Given the description of an element on the screen output the (x, y) to click on. 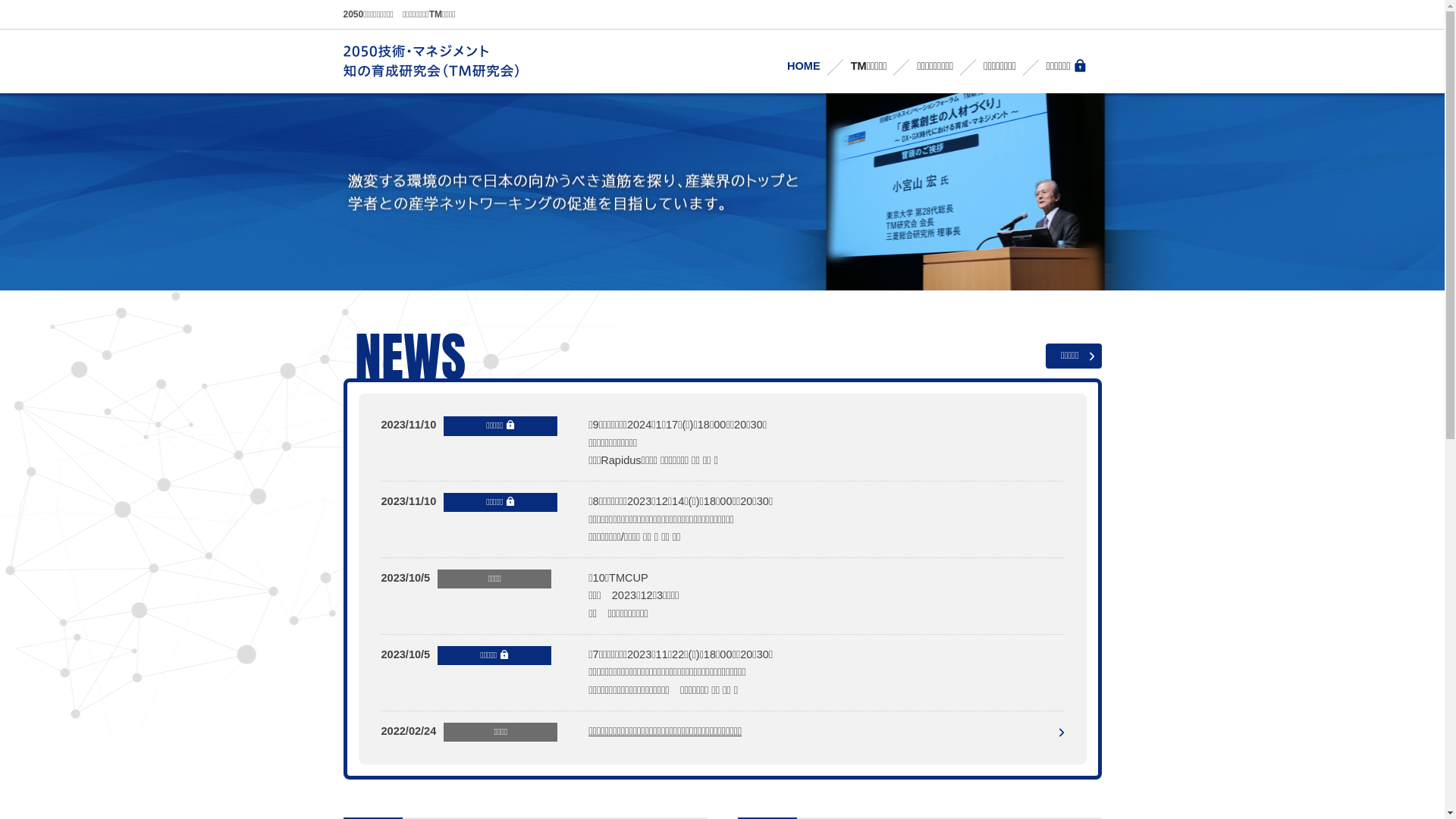
HOME Element type: text (803, 66)
